Given the description of an element on the screen output the (x, y) to click on. 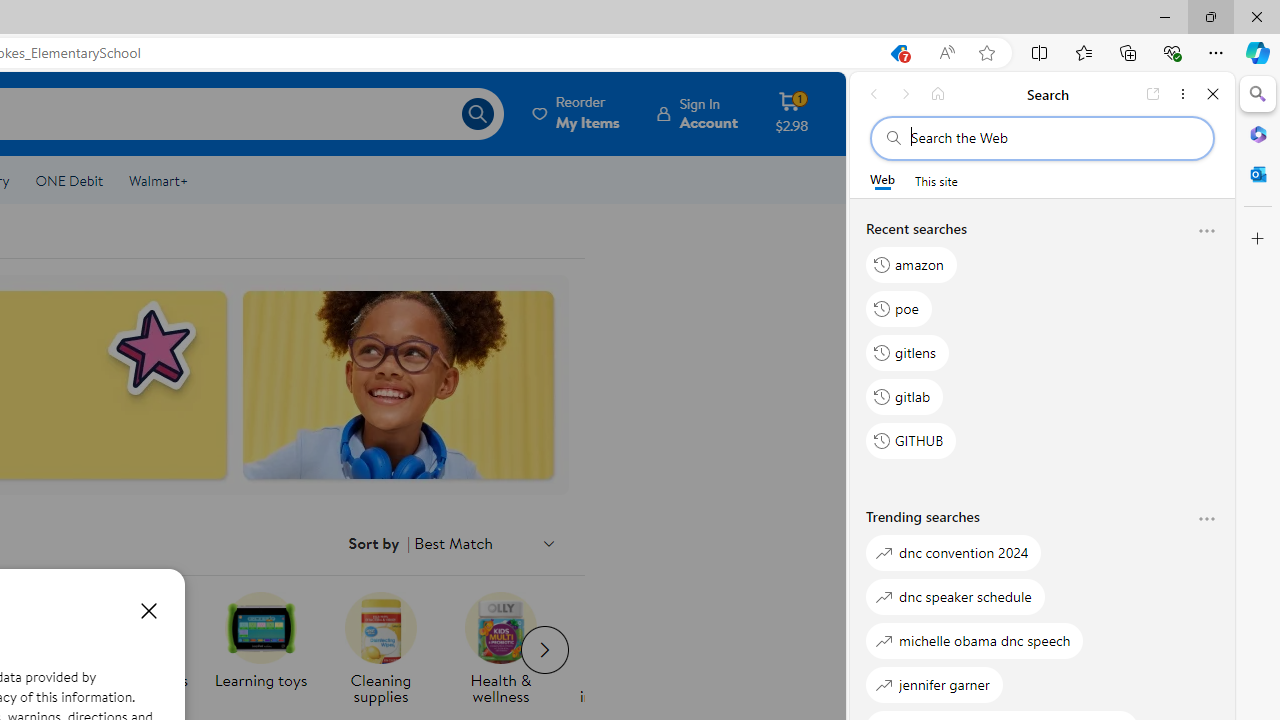
This site has coupons! Shopping in Microsoft Edge, 7 (898, 53)
Close Search pane (1258, 94)
dnc convention 2024 (953, 552)
gitlab (905, 396)
